Given the description of an element on the screen output the (x, y) to click on. 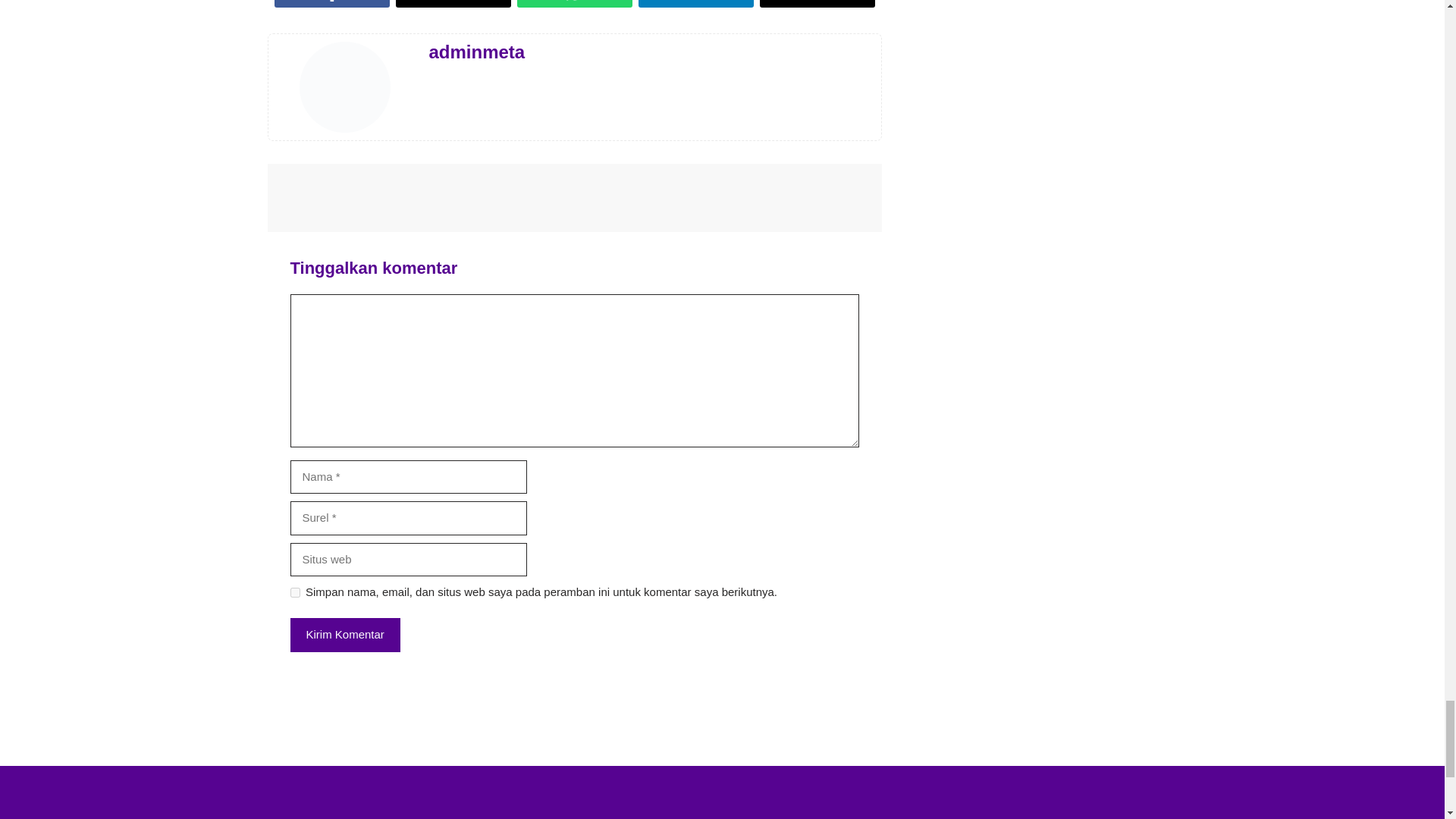
adminmeta (477, 51)
yes (294, 592)
Kirim Komentar (343, 634)
Kirim Komentar (343, 634)
